Given the description of an element on the screen output the (x, y) to click on. 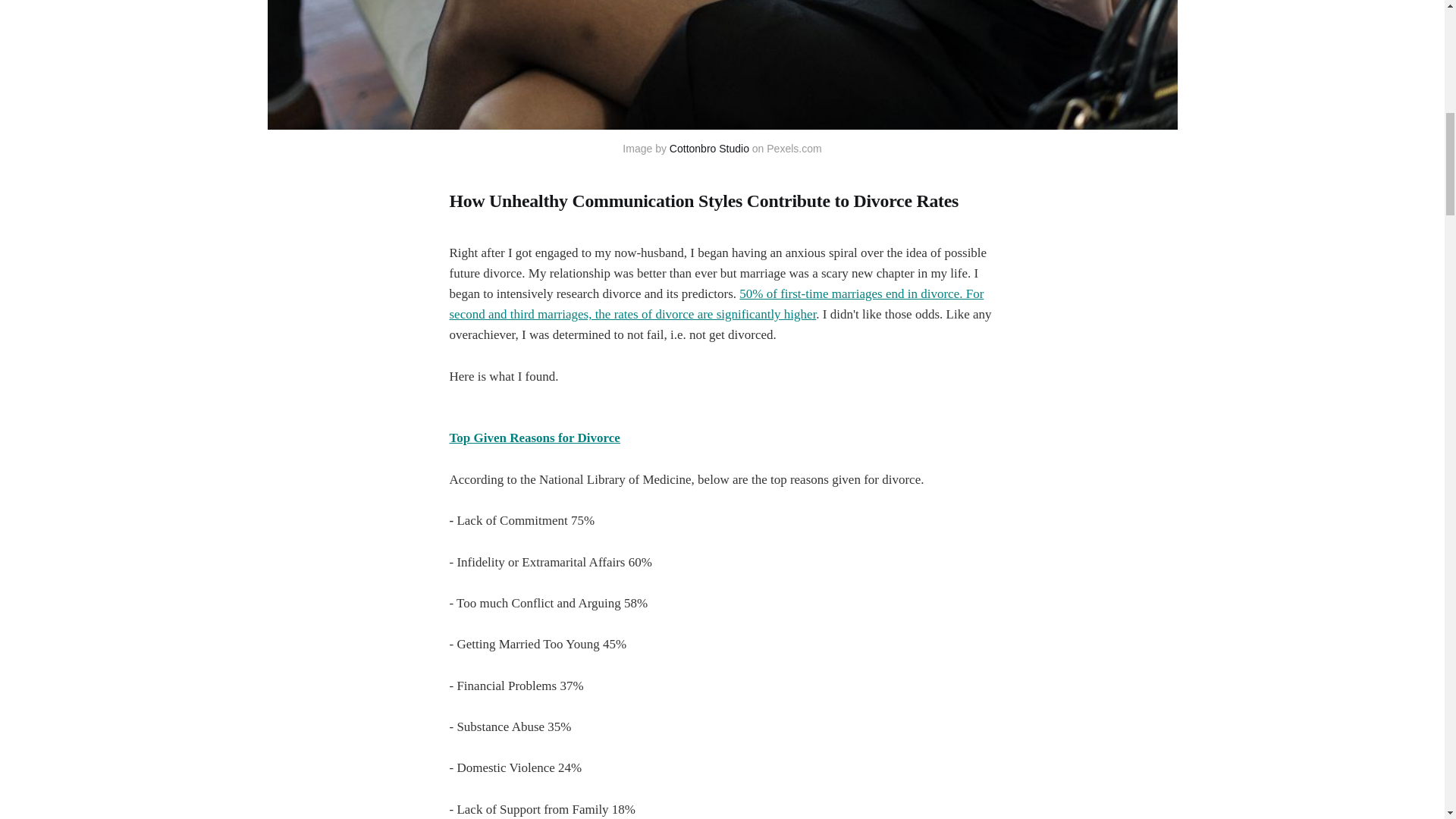
Top Given Reasons for Divorce (534, 437)
Cottonbro Studio (709, 148)
